Given the description of an element on the screen output the (x, y) to click on. 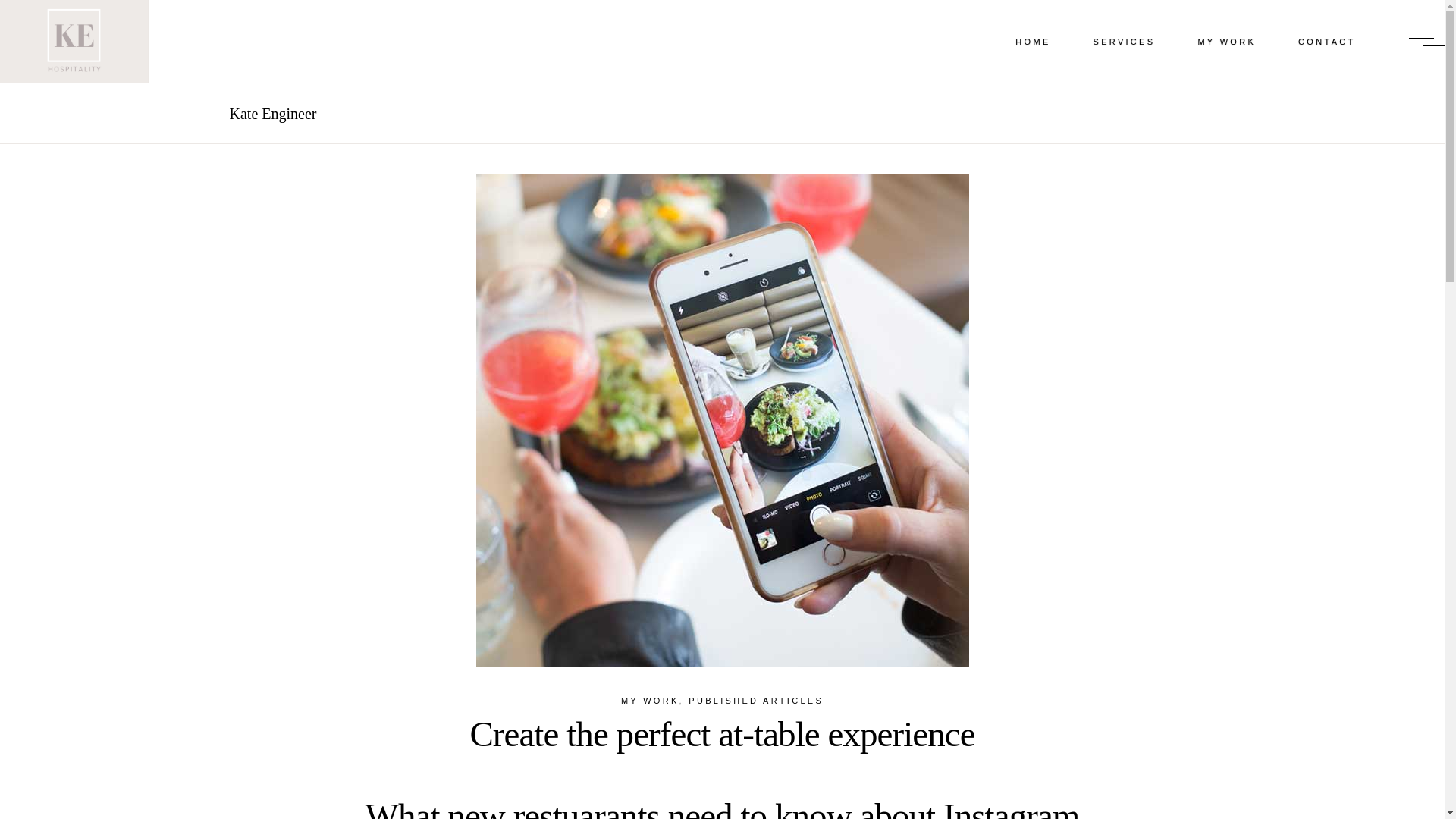
CONTACT (1325, 41)
HOME (1032, 41)
MY WORK (1226, 41)
SERVICES (1123, 41)
